Given the description of an element on the screen output the (x, y) to click on. 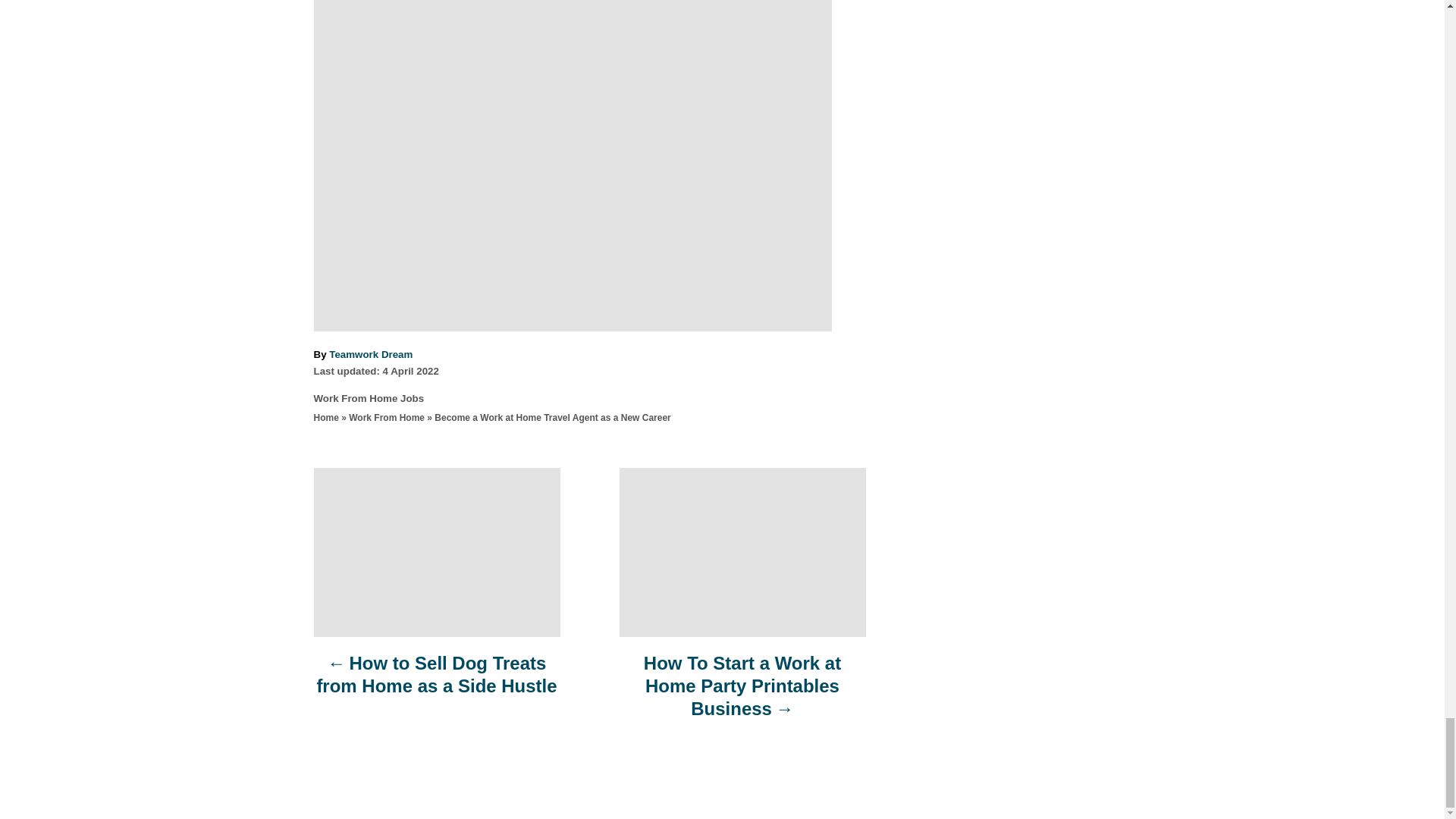
How to Sell Dog Treats from Home as a Side Hustle (437, 681)
Teamwork Dream (370, 354)
Home (326, 417)
Work From Home (387, 417)
Work From Home Jobs (369, 398)
How To Start a Work at Home Party Printables Business (741, 693)
